Given the description of an element on the screen output the (x, y) to click on. 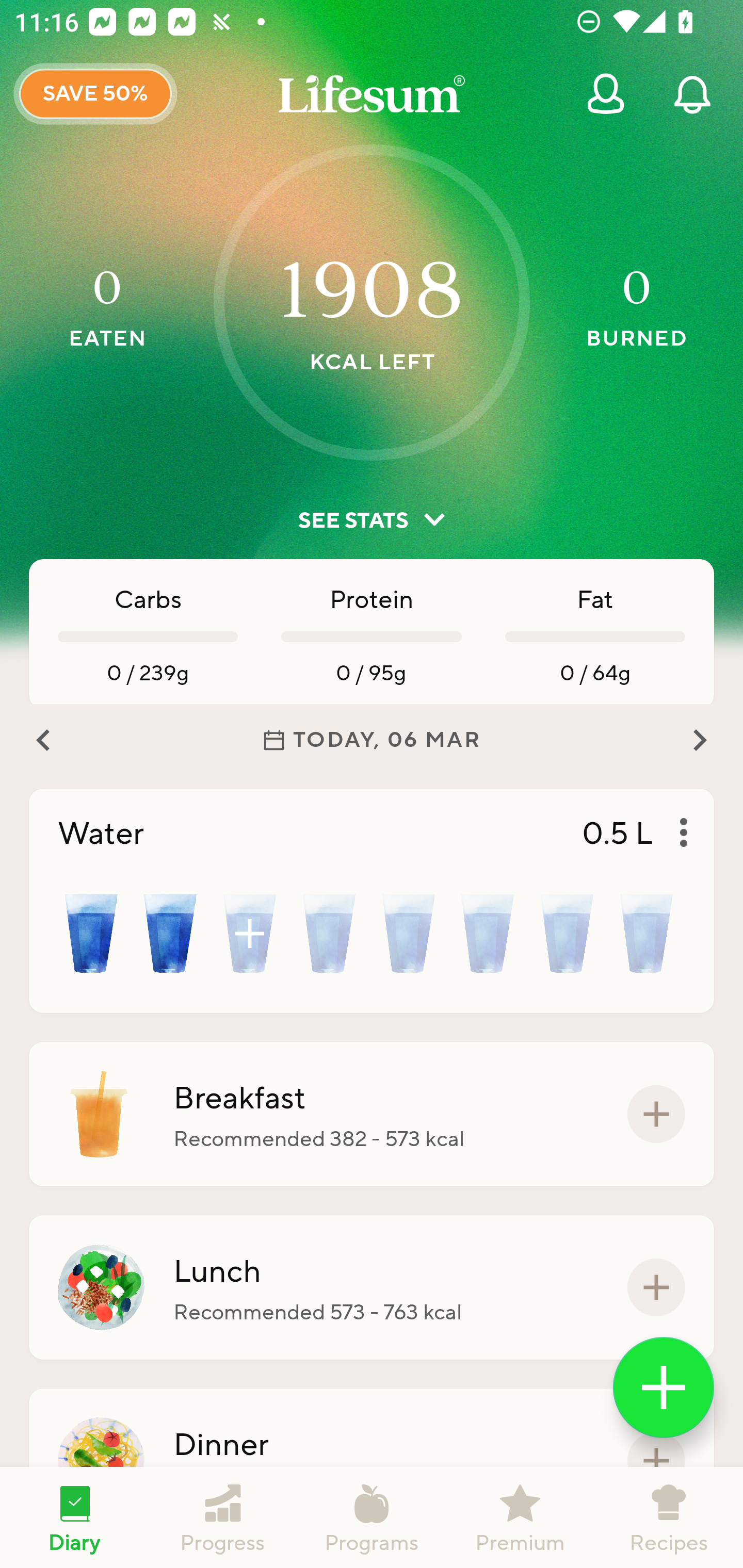
SEE STATS (371, 519)
TODAY, 06 MAR (371, 739)
Breakfast Recommended 382 - 573 kcal (371, 1113)
Lunch Recommended 573 - 763 kcal (371, 1287)
Dinner Recommended 573 - 763 kcal (371, 1461)
Progress (222, 1517)
Programs (371, 1517)
Premium (519, 1517)
Recipes (668, 1517)
